Given the description of an element on the screen output the (x, y) to click on. 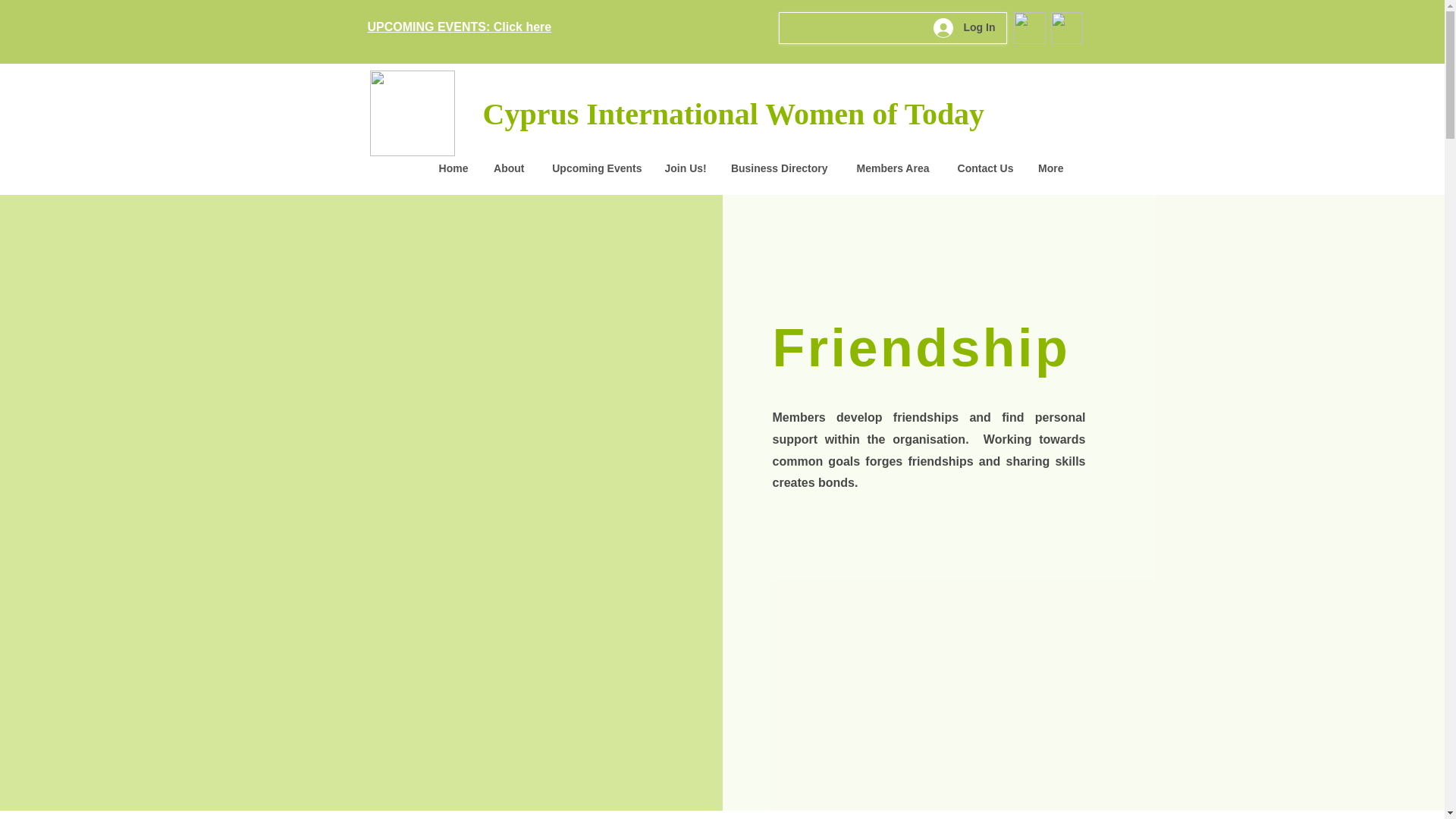
Upcoming Events (593, 168)
Log In (963, 27)
Cyprus International Women of Today (732, 114)
Contact Us (982, 168)
Home (451, 168)
UPCOMING EVENTS: Click here (458, 26)
Join Us! (685, 168)
Business Directory (778, 168)
